Given the description of an element on the screen output the (x, y) to click on. 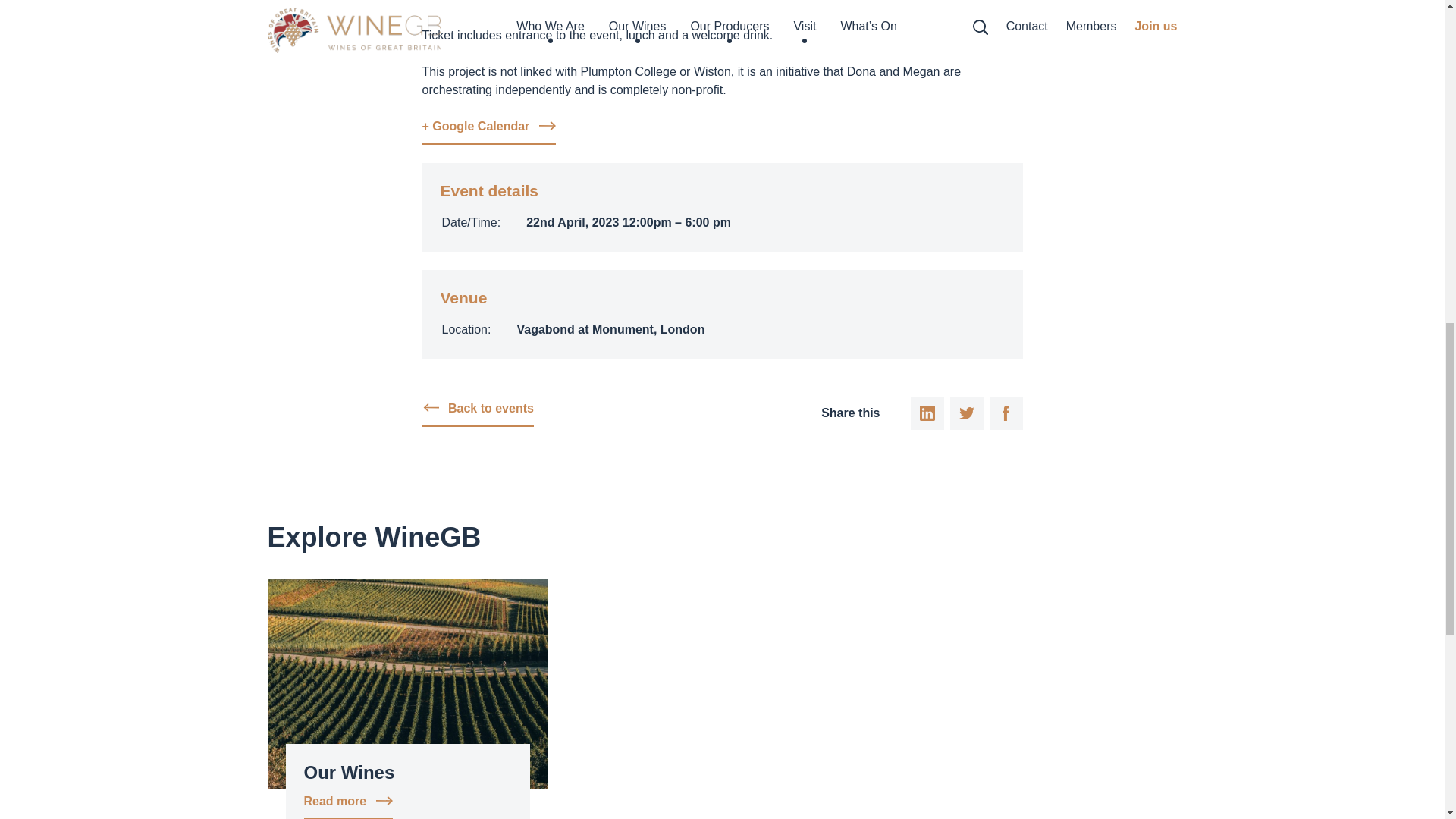
Share on Twitter (965, 412)
Back to events (477, 412)
Share on Linkedin (926, 412)
